Given the description of an element on the screen output the (x, y) to click on. 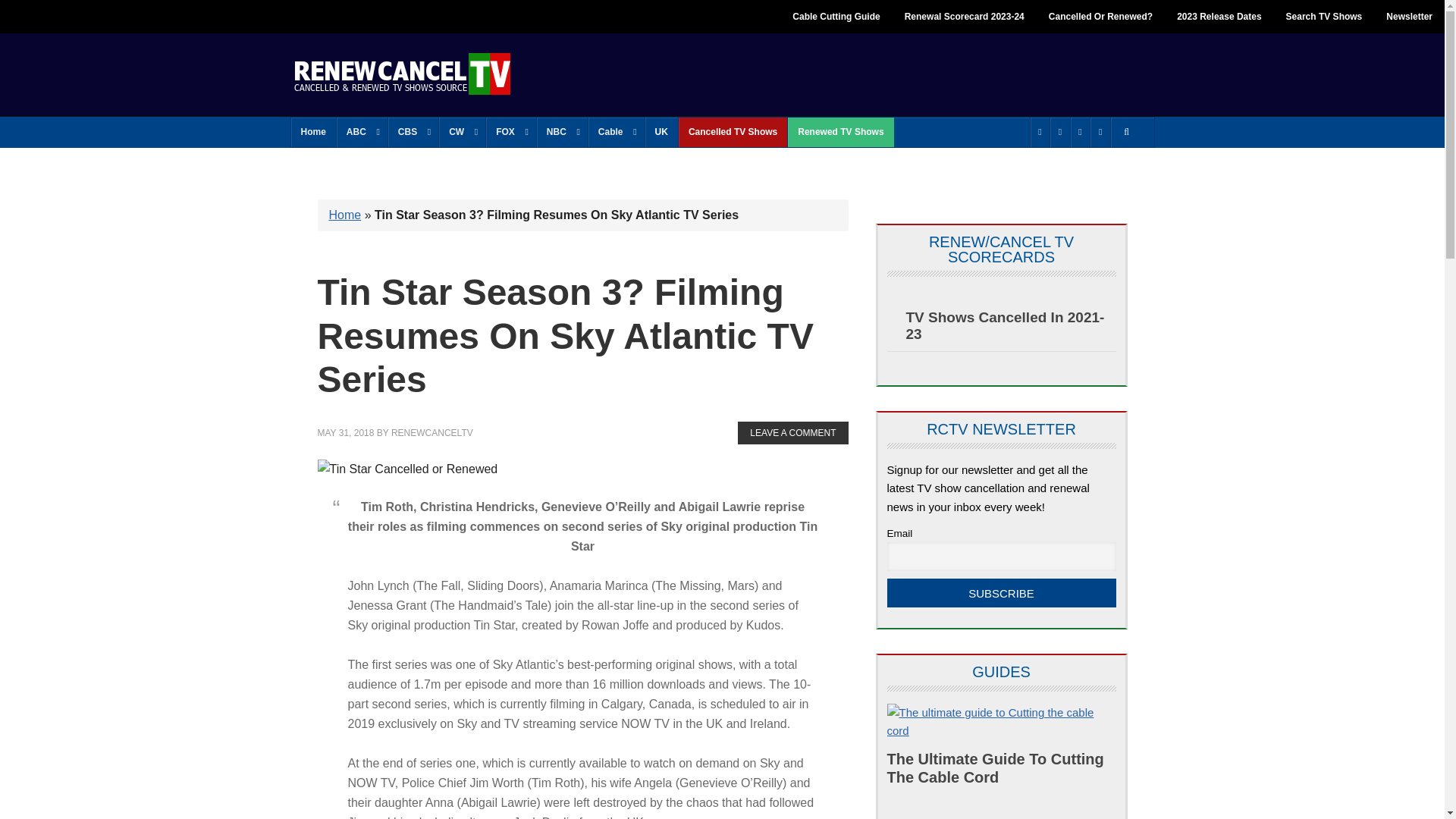
CBS (412, 132)
Search TV Shows (1324, 16)
Cable Cutting Guide (835, 16)
Cancelled Or Renewed? (1100, 16)
2023 Release Dates (1218, 16)
Renewal Scorecard 2023-24 (964, 16)
ABC (361, 132)
RENEWCANCELTV (401, 73)
Home (313, 132)
Subscribe (1001, 592)
